Given the description of an element on the screen output the (x, y) to click on. 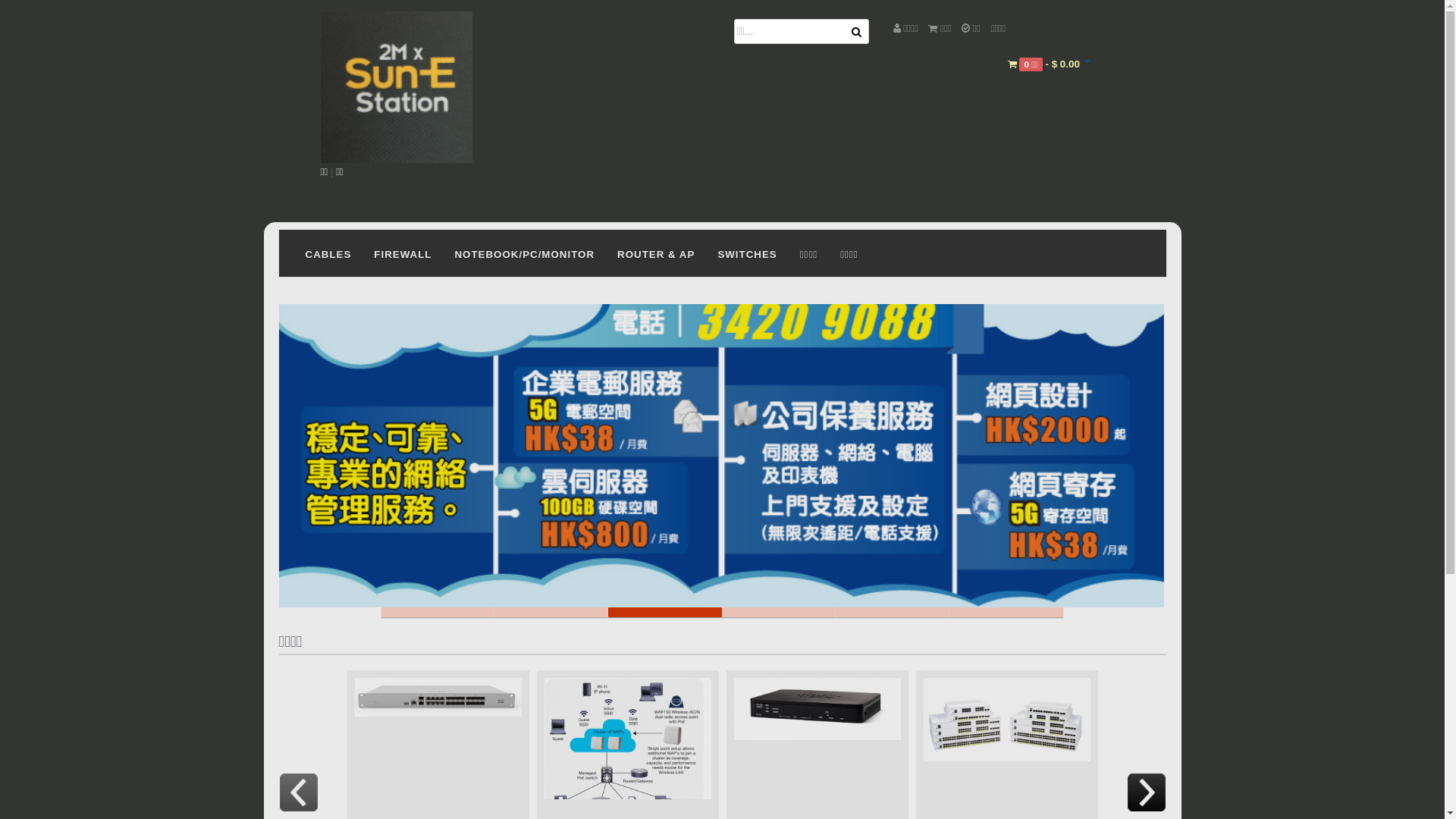
SWITCHES Element type: text (746, 252)
NOTEBOOK/PC/MONITOR Element type: text (523, 252)
FIREWALL Element type: text (402, 252)
ROUTER & AP Element type: text (655, 252)
CABLES Element type: text (328, 252)
